Given the description of an element on the screen output the (x, y) to click on. 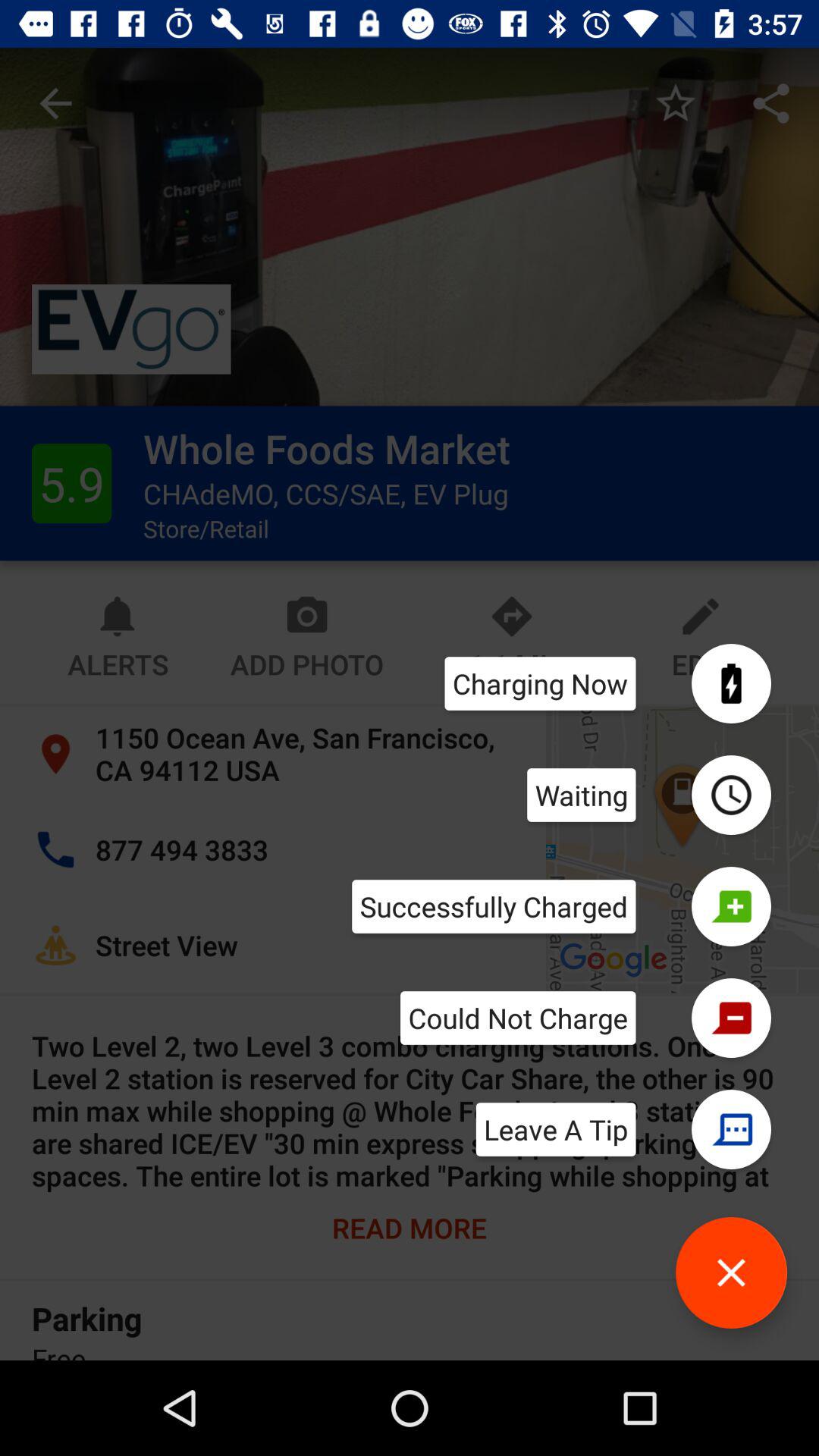
tap the item below could not charge item (555, 1129)
